Given the description of an element on the screen output the (x, y) to click on. 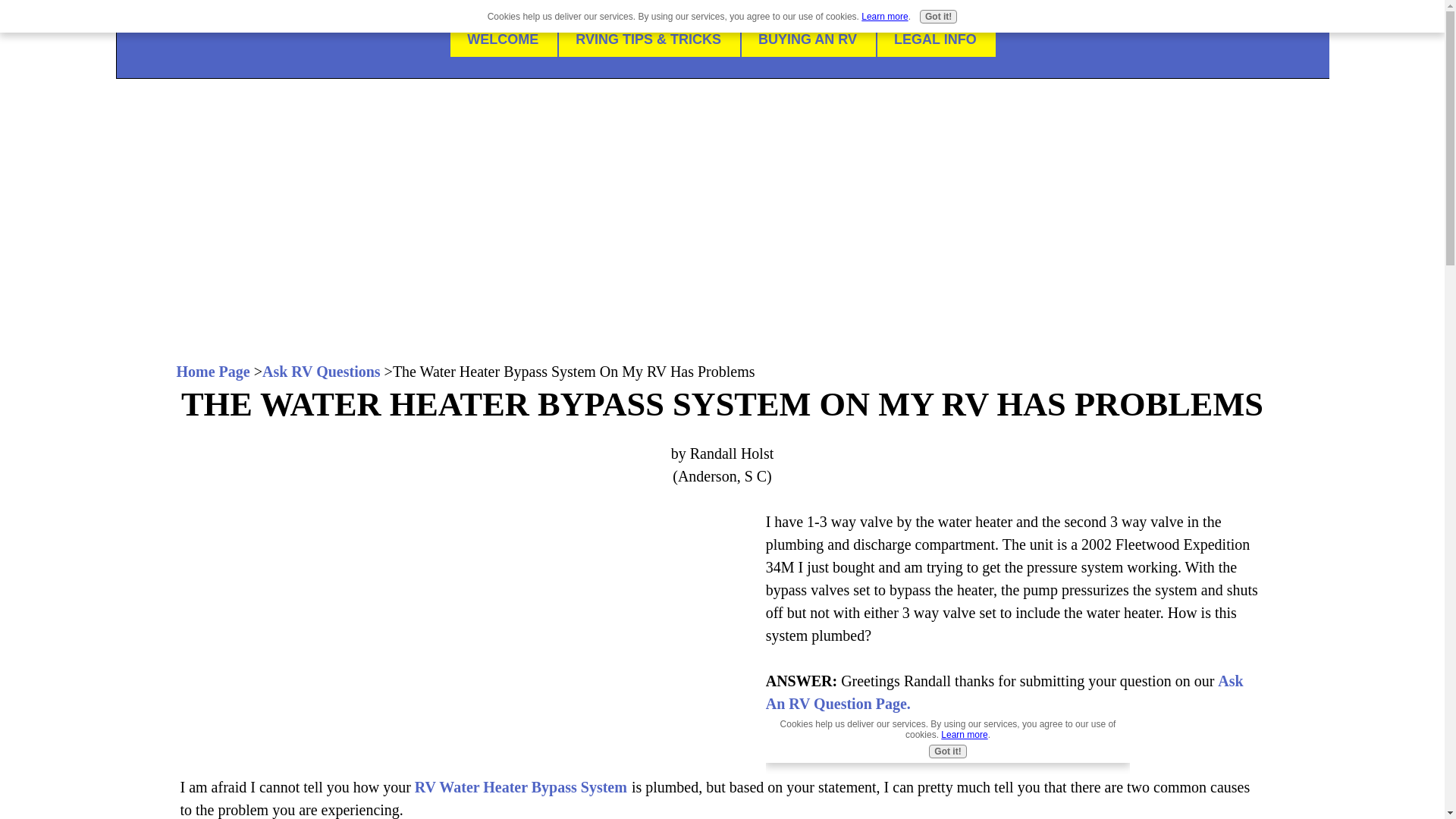
Home Page (212, 371)
Ask An RV Question Page. (1004, 691)
Advertisement (461, 626)
Ask RV Questions (321, 371)
RV Water Heater Bypass System (520, 786)
EVERYTHING ABOUT RVING (722, 110)
